Given the description of an element on the screen output the (x, y) to click on. 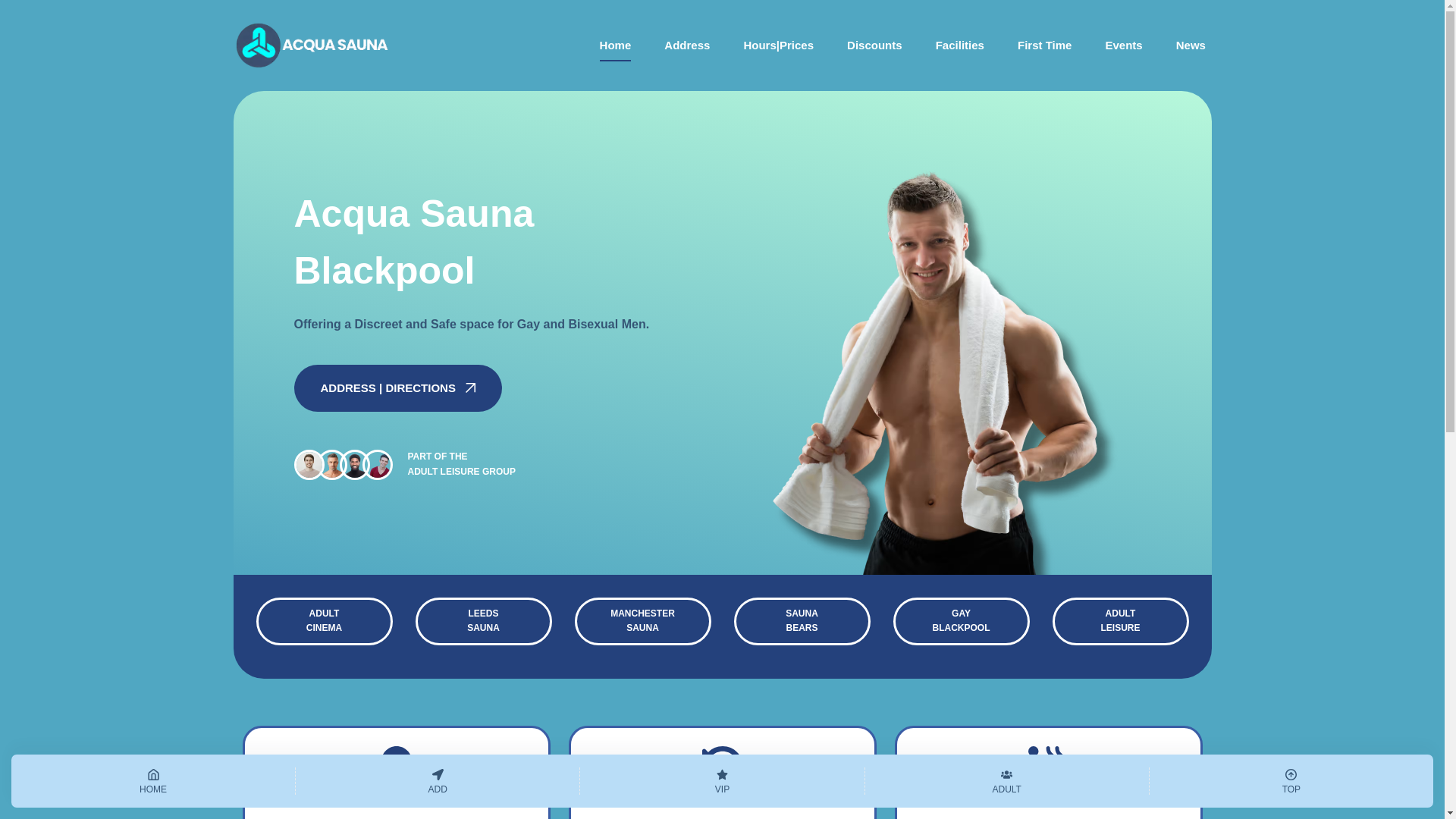
Address (687, 45)
Events (1123, 45)
First Time (1044, 45)
Home 2 (332, 464)
VISIT GAY BLACKPOOL (324, 621)
Home (482, 621)
VISIT LEEDS SAUNA (961, 621)
VISIT ADULT CINEMA (615, 45)
Discounts (482, 621)
Facilities (324, 621)
VISIT ADULT LEISURE (874, 45)
Home 5 (960, 45)
